Given the description of an element on the screen output the (x, y) to click on. 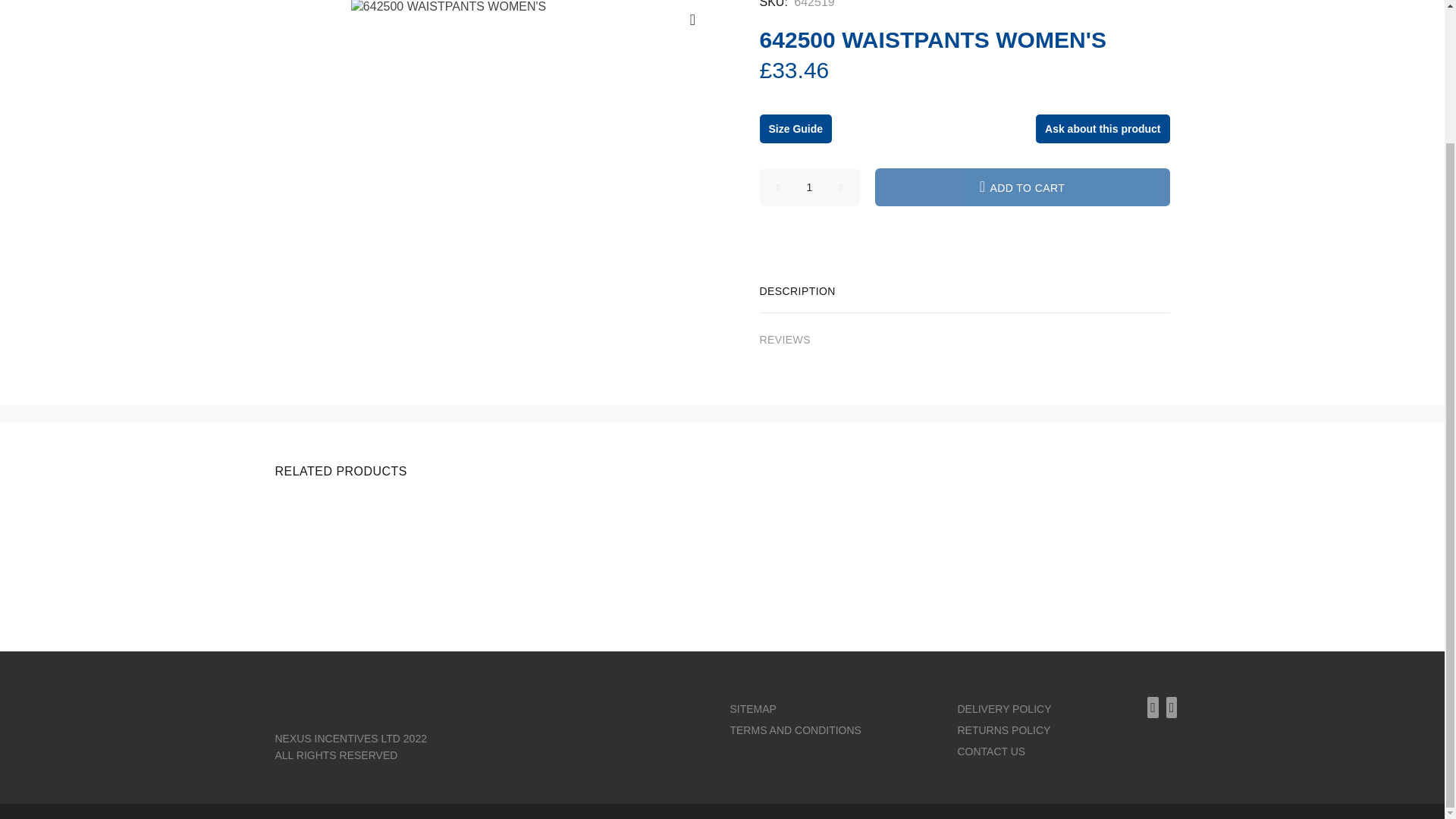
View 643412 FUNCTIONAL JACKET WOMEN'S (380, 594)
View 643425 SHELL JACKET (1028, 513)
1 (810, 187)
View 642529 SHORTS WOMEN'S (813, 585)
View 642553 SERVICE PANTS STRETCH WOMEN'S (835, 521)
View 642521  Stretch trousers - Women's (376, 513)
